Given the description of an element on the screen output the (x, y) to click on. 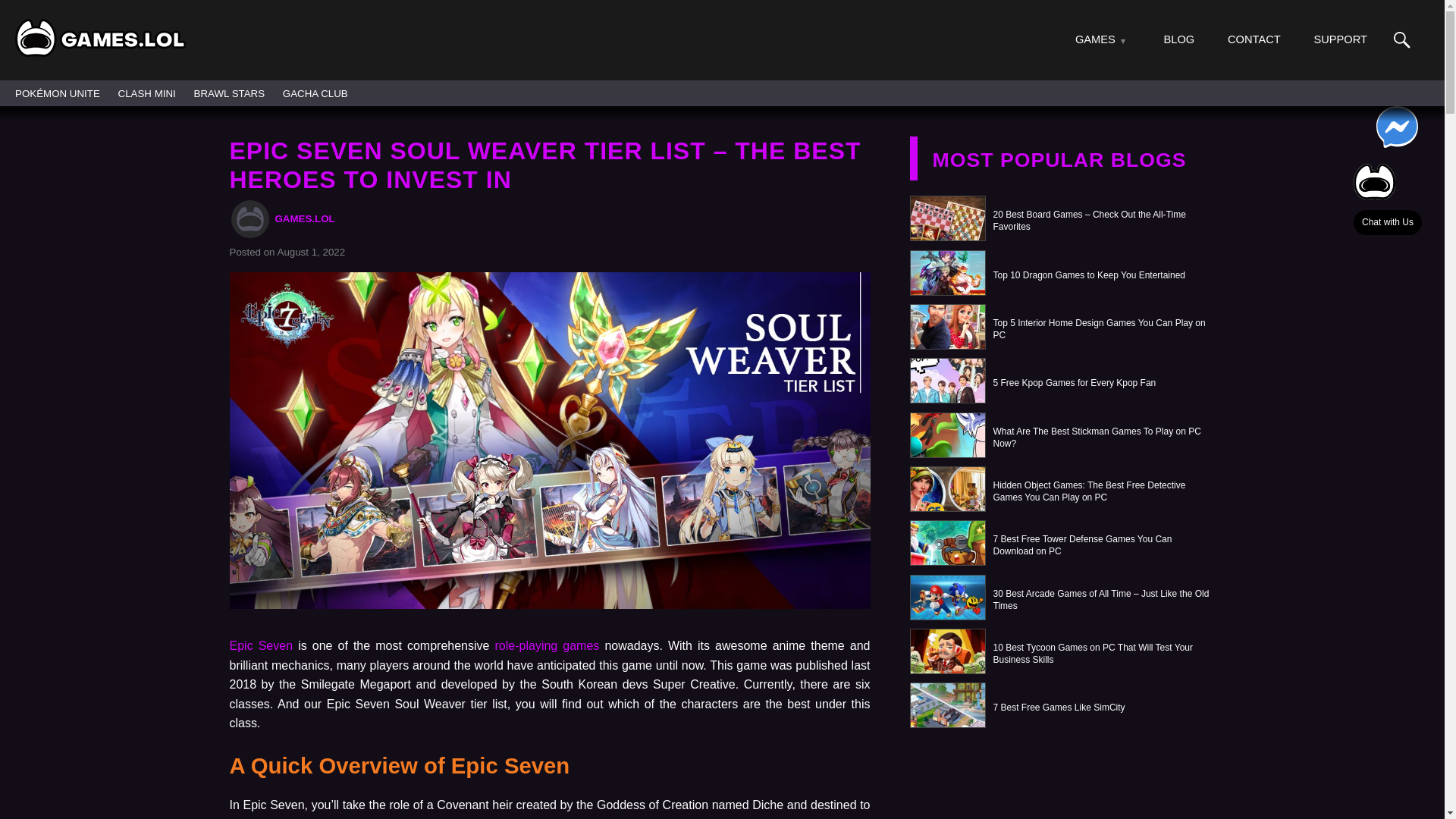
SUPPORT (1340, 39)
CLASH MINI (146, 93)
BLOG (1179, 39)
role-playing games (543, 645)
GACHA CLUB (314, 93)
BRAWL STARS (228, 93)
Epic Seven (260, 645)
Games.lol free game download website logo (100, 37)
GAMES (1095, 39)
CONTACT (1254, 39)
